Given the description of an element on the screen output the (x, y) to click on. 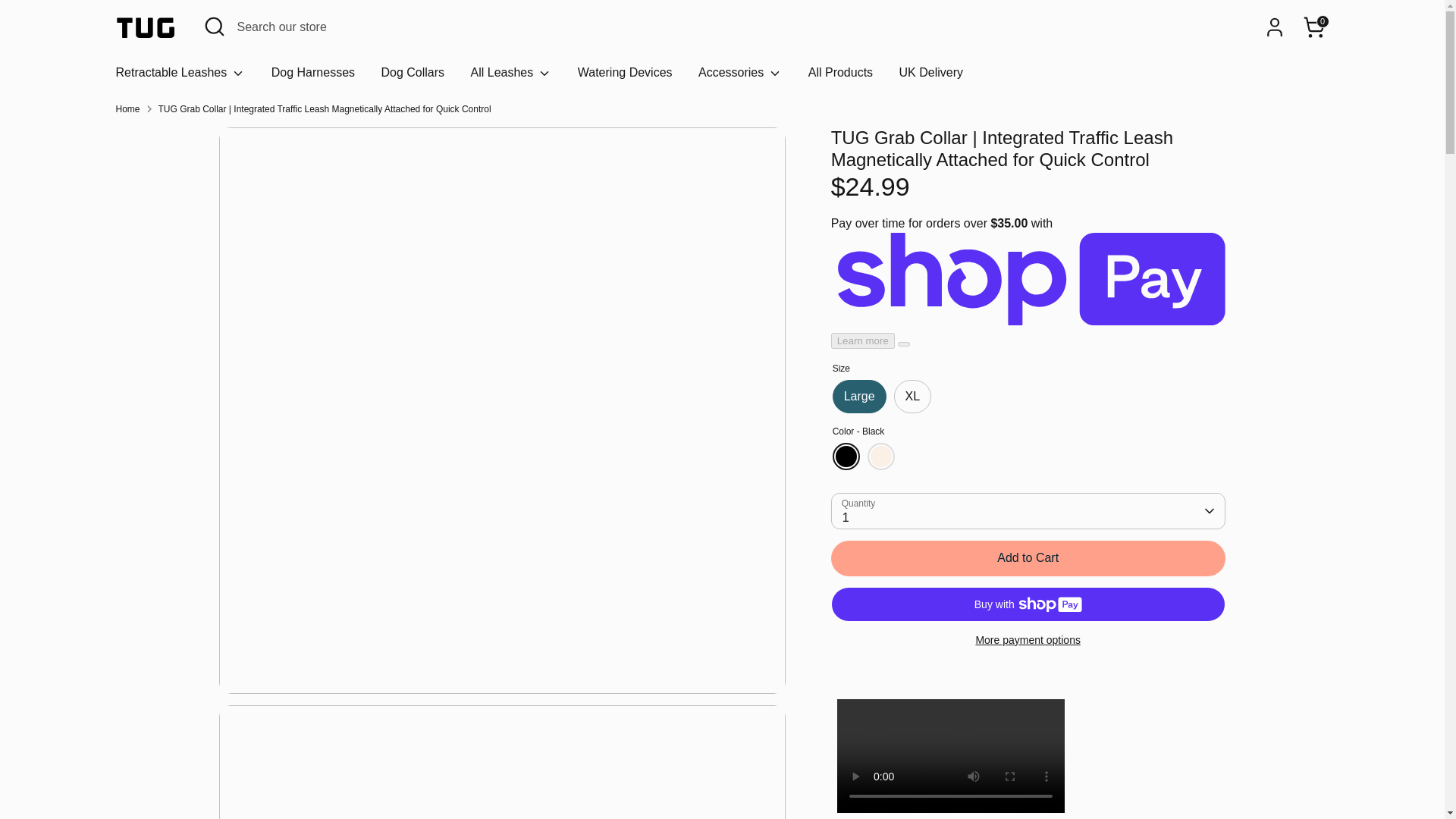
American Express (1008, 771)
0 (1312, 27)
Amazon (977, 771)
Apple Pay (1039, 771)
Retractable Leashes (180, 76)
